Given the description of an element on the screen output the (x, y) to click on. 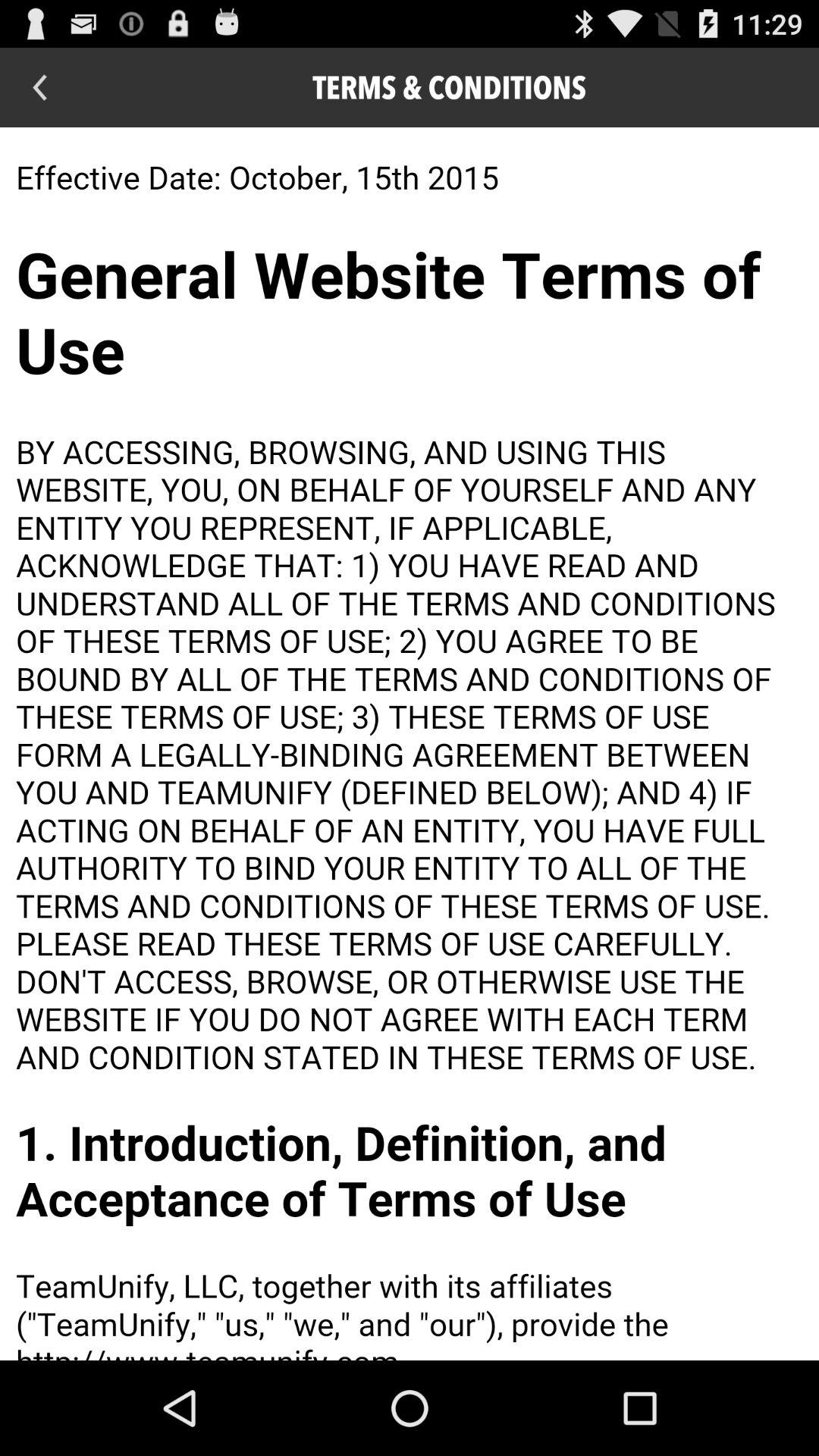
return to previous page (39, 87)
